Given the description of an element on the screen output the (x, y) to click on. 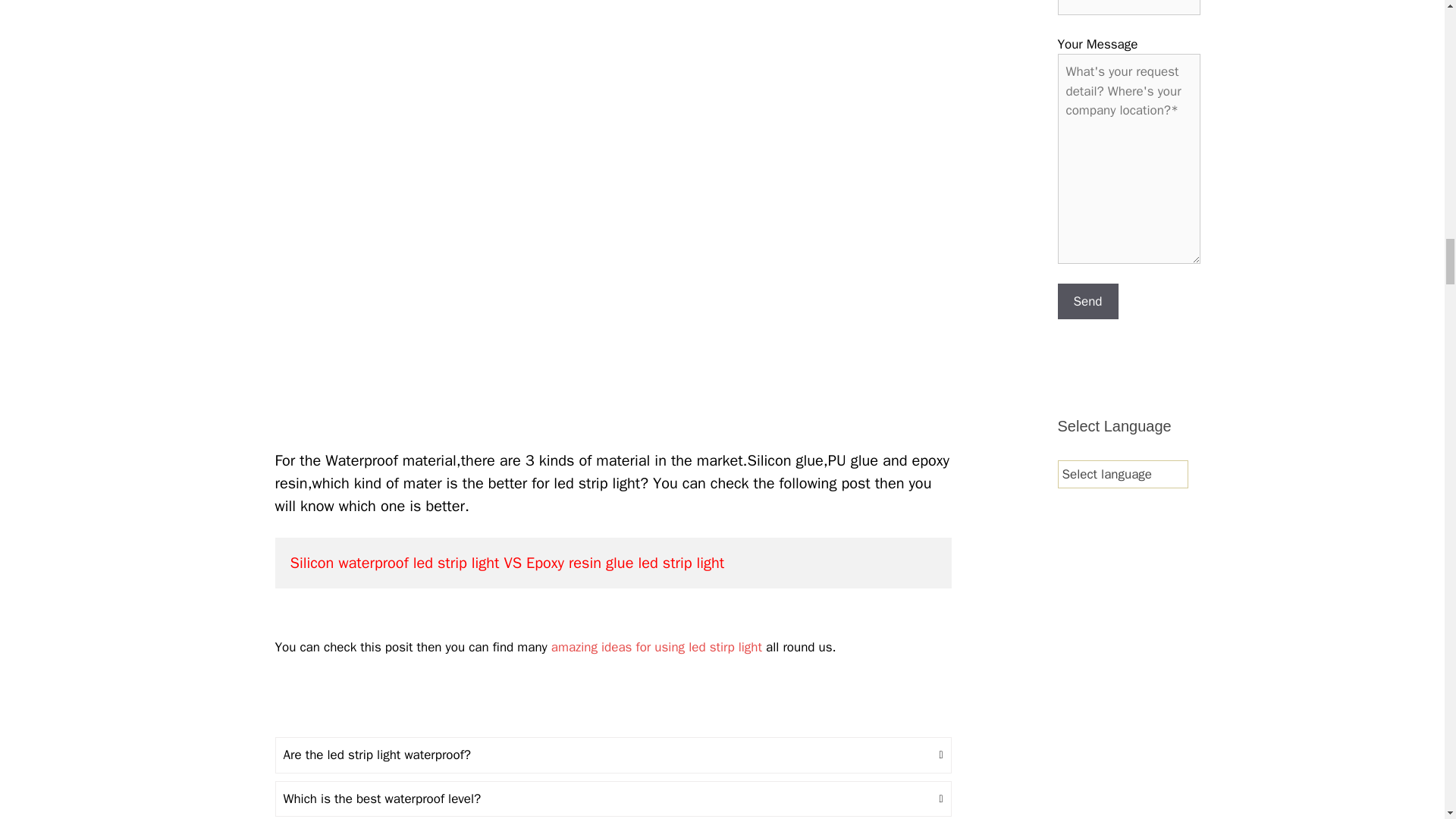
Send (1087, 301)
